Given the description of an element on the screen output the (x, y) to click on. 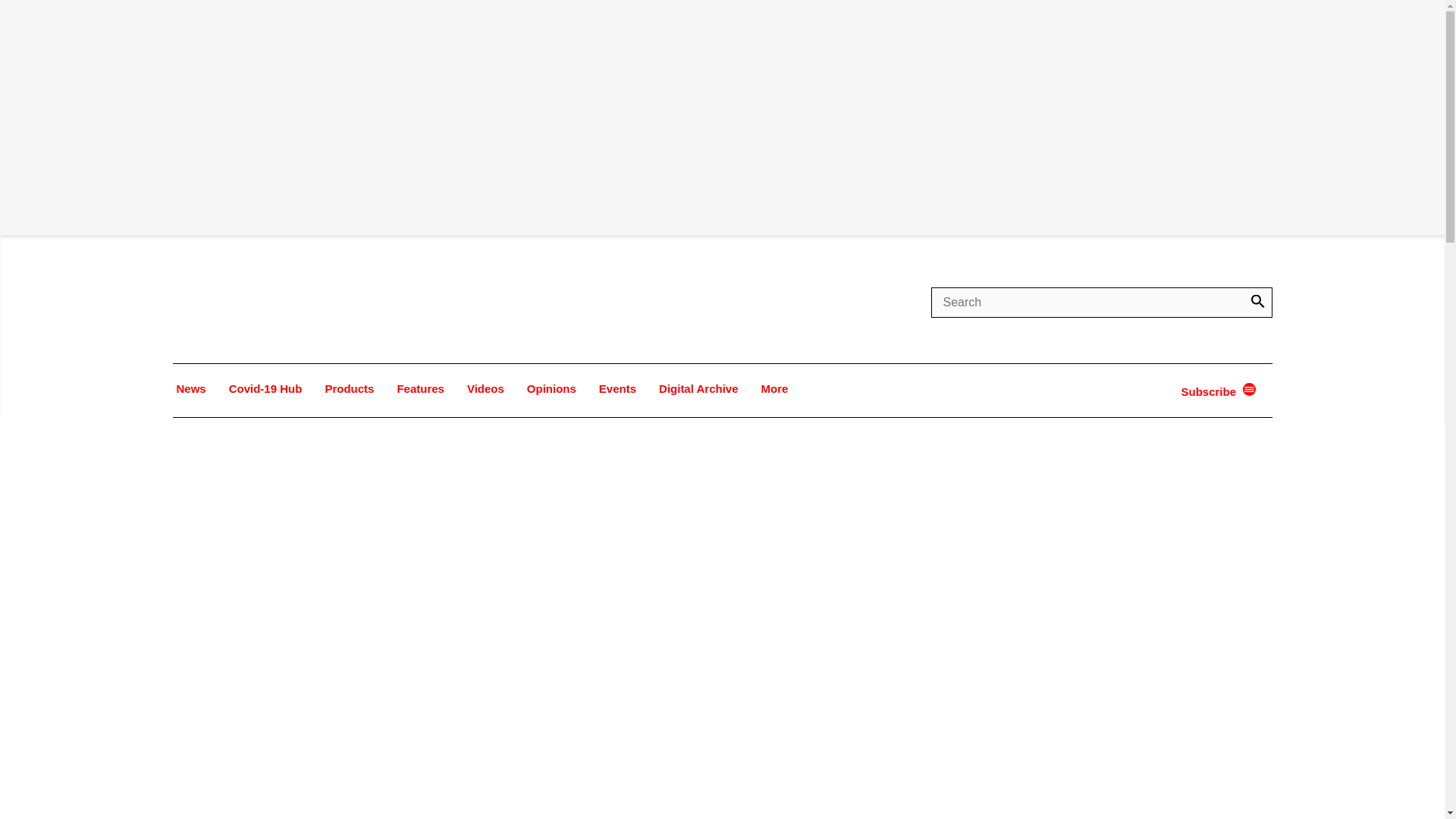
Subscribe (1210, 391)
Events (617, 388)
Features (420, 388)
Videos (485, 388)
Covid-19 Hub (265, 388)
More (774, 388)
Opinions (550, 388)
Digital Archive (698, 388)
News (191, 388)
Products (348, 388)
